Given the description of an element on the screen output the (x, y) to click on. 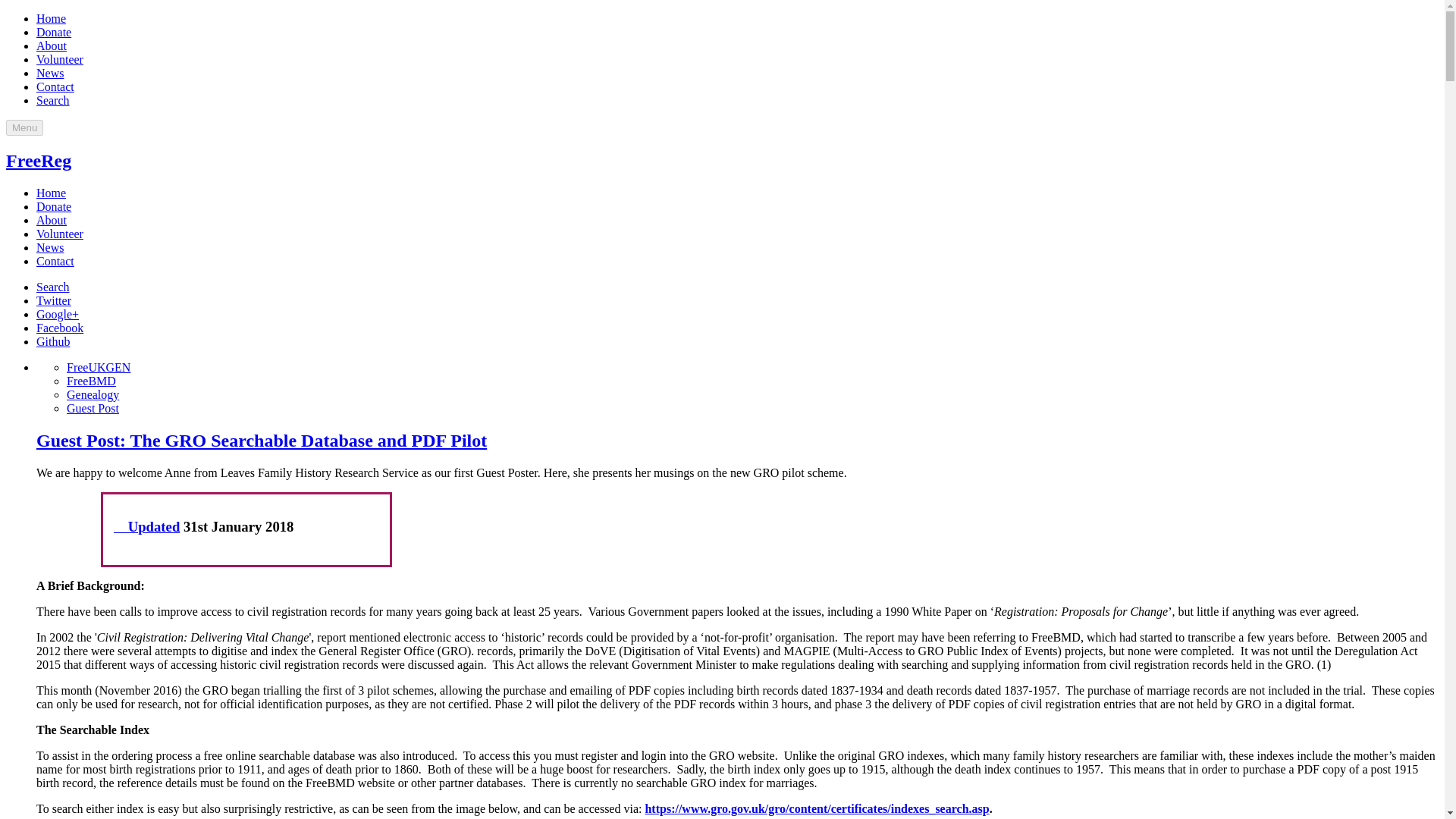
About (51, 45)
Contact (55, 86)
Visit Our Facebook Page (59, 327)
Volunteer (59, 59)
Home (50, 192)
Twitter (53, 300)
News (50, 246)
Facebook (59, 327)
About (51, 219)
    Updated (146, 526)
FreeBMD (91, 380)
Volunteer (59, 233)
Menu (24, 127)
Search (52, 100)
Contact (55, 260)
